Given the description of an element on the screen output the (x, y) to click on. 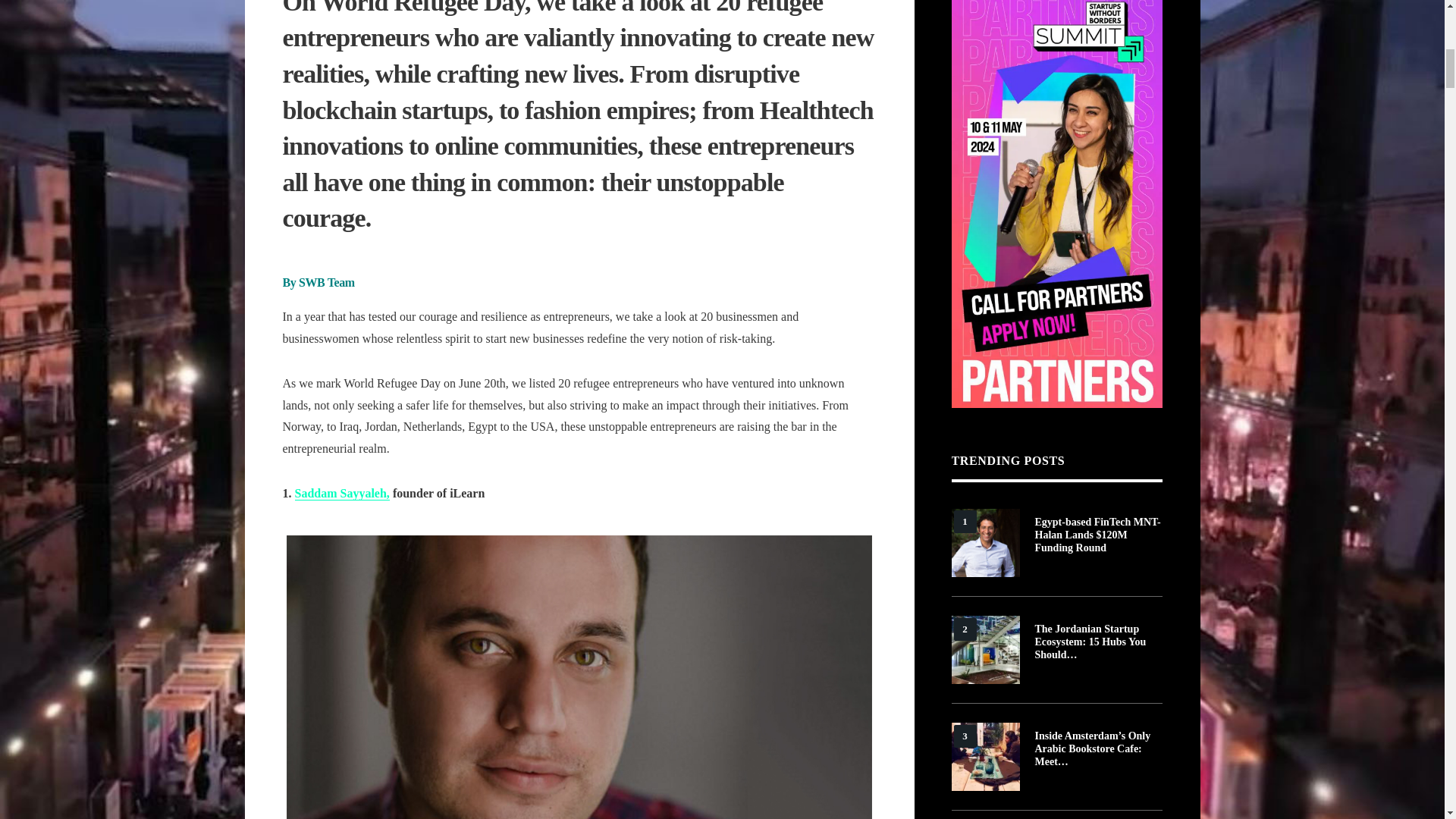
Saddam Sayyaleh, (341, 493)
